Given the description of an element on the screen output the (x, y) to click on. 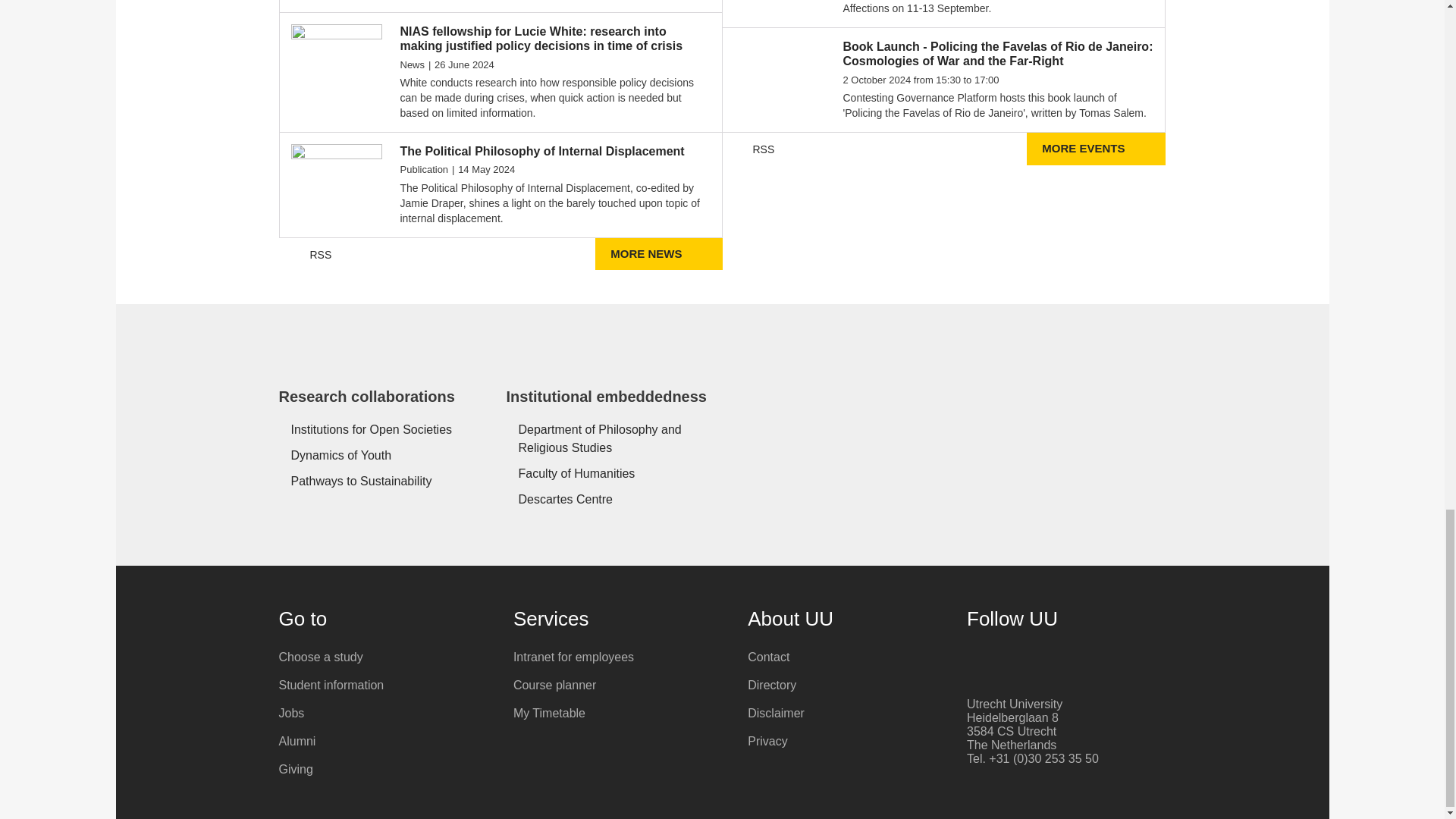
Faculty of Humanities (608, 474)
Student information (384, 685)
The Political Philosophy of Internal Displacement (555, 151)
Pathways to Sustainability (381, 481)
MORE NEWS (658, 254)
Descartes Centre (608, 499)
Choose a study (384, 657)
RSS (310, 254)
MORE EVENTS (1095, 148)
